Given the description of an element on the screen output the (x, y) to click on. 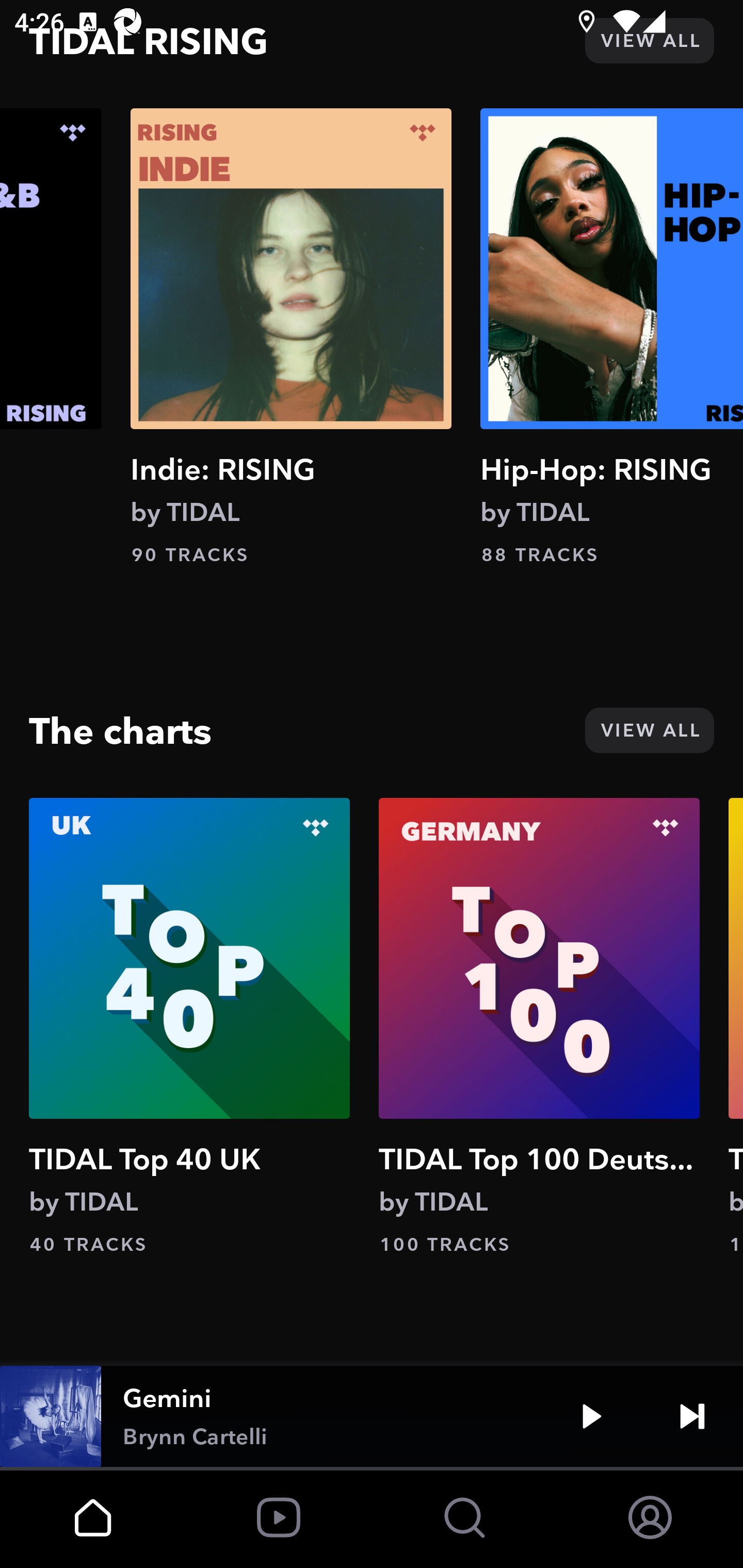
VIEW ALL (649, 40)
Indie: RISING by TIDAL 90 TRACKS (290, 337)
Hip-Hop: RISING by TIDAL 88 TRACKS (611, 337)
VIEW ALL (649, 729)
TIDAL Top 40 UK by TIDAL 40 TRACKS (188, 1026)
TIDAL Top 100 Deutschland by TIDAL 100 TRACKS (538, 1026)
Gemini Brynn Cartelli Play (371, 1416)
Play (590, 1416)
